Given the description of an element on the screen output the (x, y) to click on. 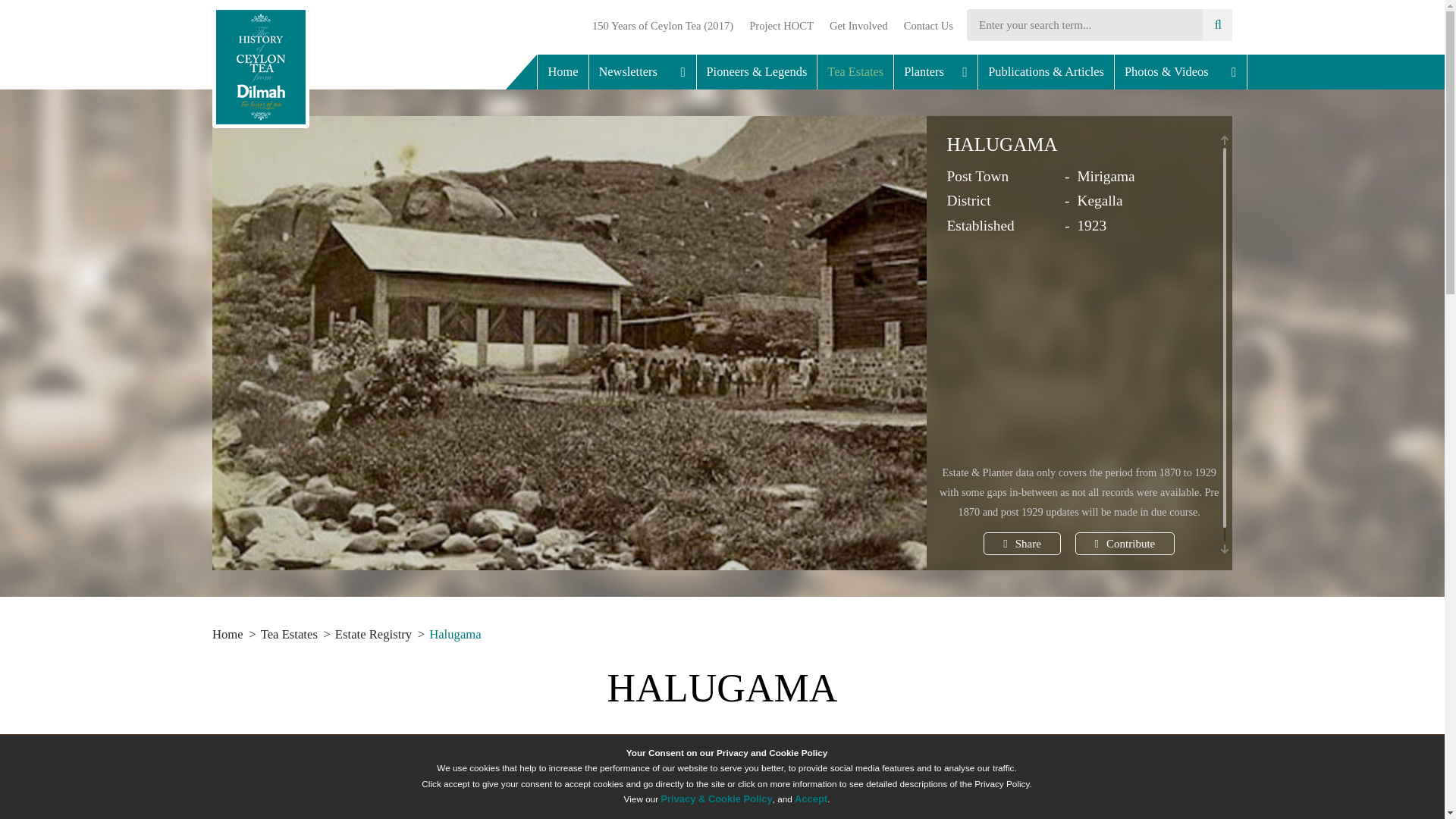
Contact Us (924, 25)
Newsletters (641, 71)
Get Involved (859, 25)
Tea Estates (855, 71)
Enter your search term (1098, 24)
Project HOCT (781, 25)
History of Ceylon Tea (260, 66)
Home (562, 71)
Contribute (1124, 543)
Halugama (460, 634)
Share (1022, 543)
Planters (936, 71)
